Given the description of an element on the screen output the (x, y) to click on. 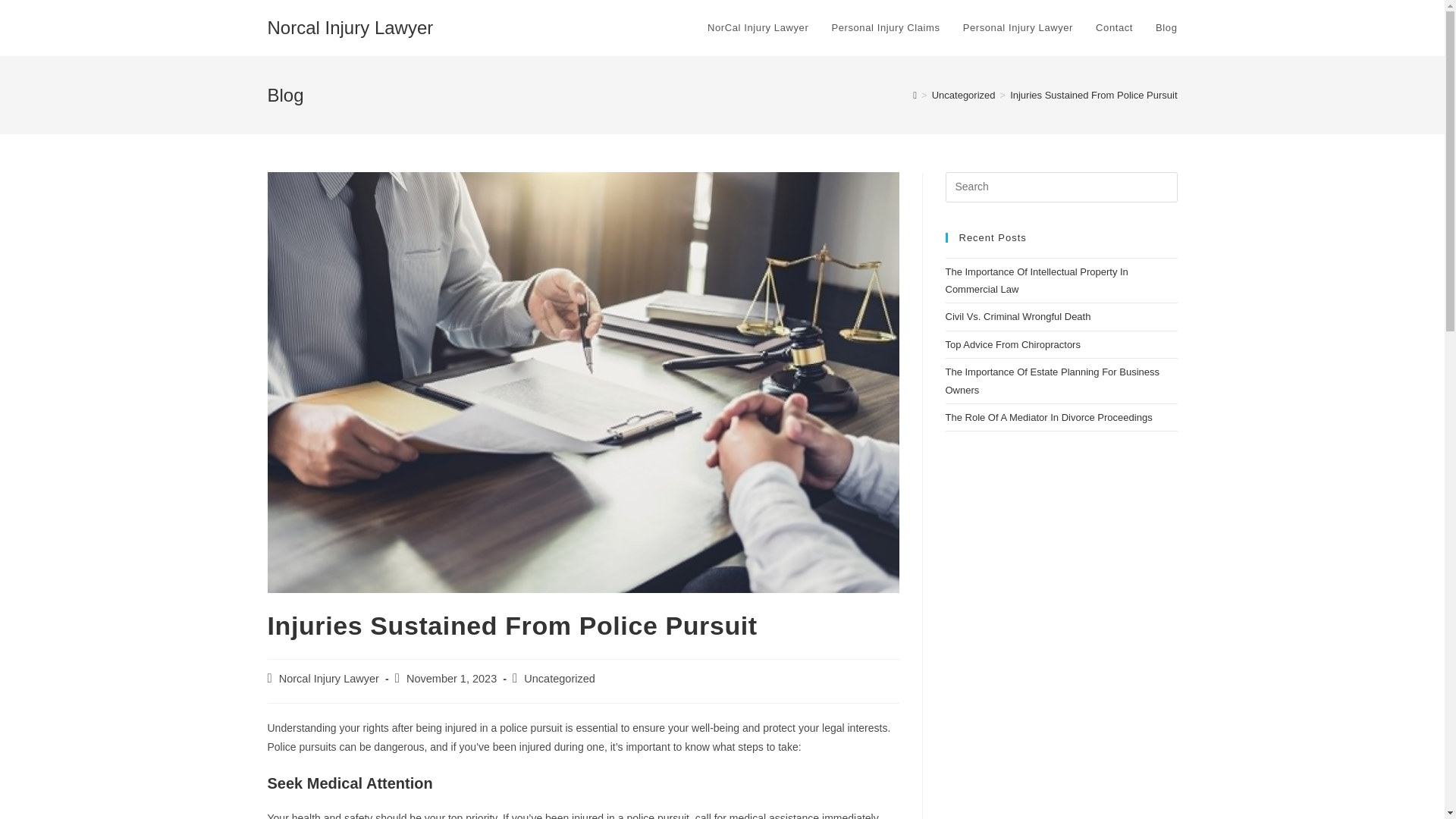
Top Advice From Chiropractors (1012, 344)
Injuries Sustained From Police Pursuit (1093, 94)
Personal Injury Claims (884, 28)
Uncategorized (963, 94)
Contact (1114, 28)
Civil Vs. Criminal Wrongful Death (1017, 316)
Uncategorized (559, 678)
Norcal Injury Lawyer (328, 678)
Personal Injury Lawyer (1018, 28)
Posts by Norcal Injury Lawyer (328, 678)
